Given the description of an element on the screen output the (x, y) to click on. 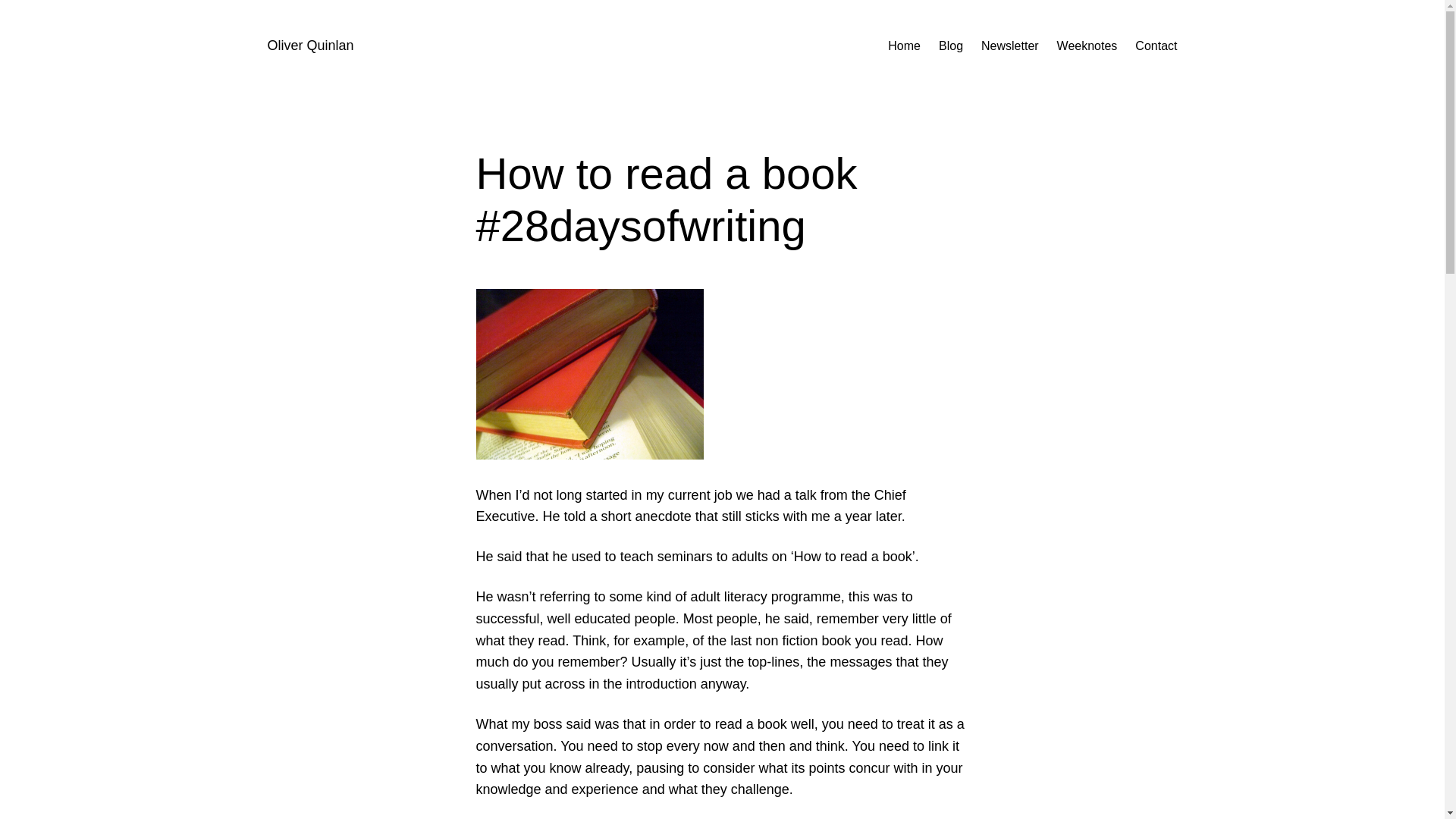
Home (904, 46)
Blog (950, 46)
Oliver Quinlan (309, 45)
Weeknotes (1087, 46)
Contact (1155, 46)
Newsletter (1010, 46)
